Given the description of an element on the screen output the (x, y) to click on. 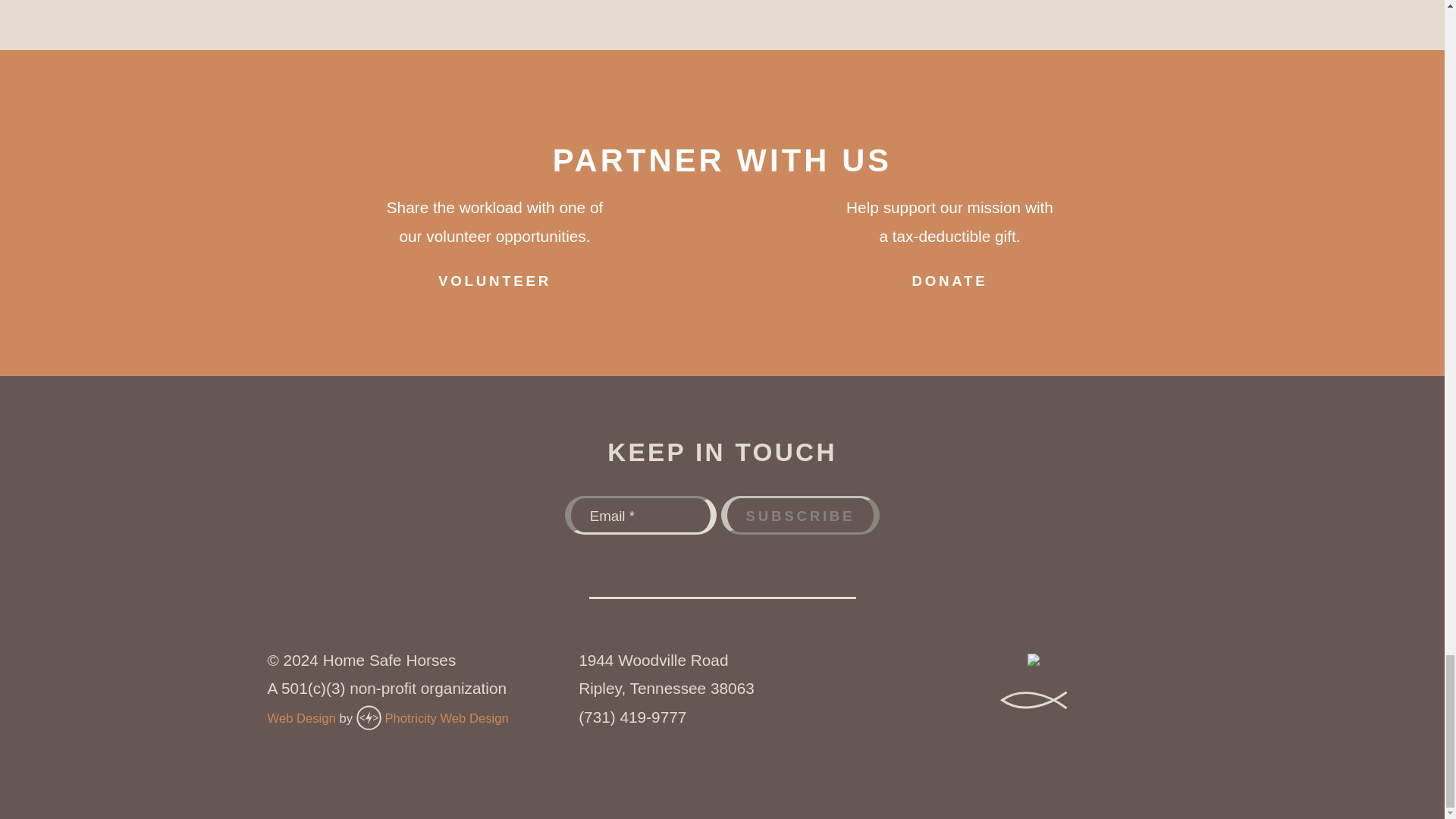
Web Design (300, 718)
VOLUNTEER (495, 278)
Subscribe (799, 515)
DONATE (949, 278)
Photricity Web Design (446, 718)
Subscribe (799, 515)
Email (640, 515)
